Given the description of an element on the screen output the (x, y) to click on. 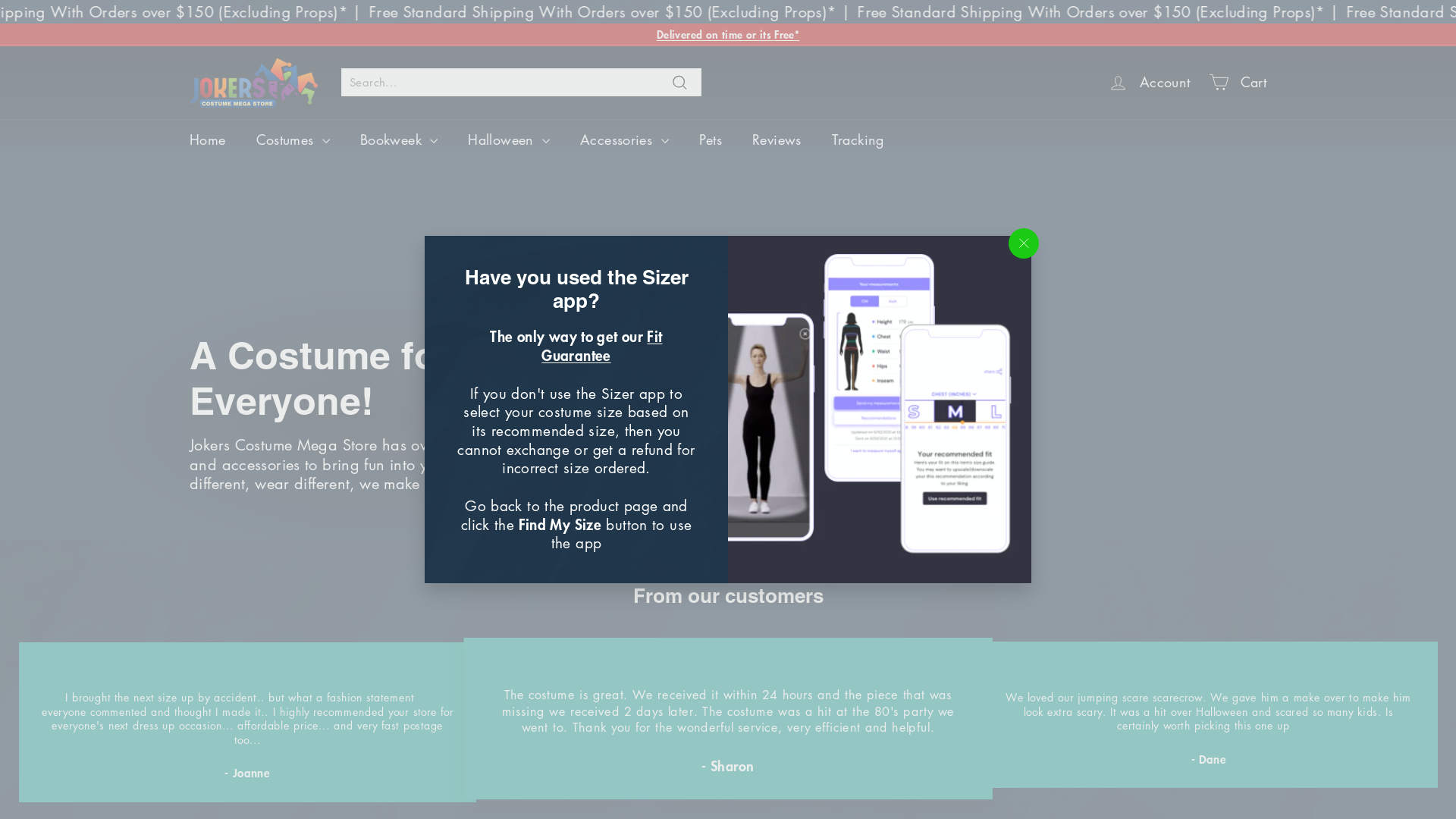
Fit Guarantee Element type: text (601, 345)
Account Element type: text (1148, 81)
Delivered on time or its Free* Element type: text (727, 33)
Cart Element type: text (1237, 81)
"Close (esc)" Element type: text (1023, 243)
Pets Element type: text (710, 139)
Reviews Element type: text (776, 139)
Tracking Element type: text (857, 139)
Home Element type: text (207, 139)
